Given the description of an element on the screen output the (x, y) to click on. 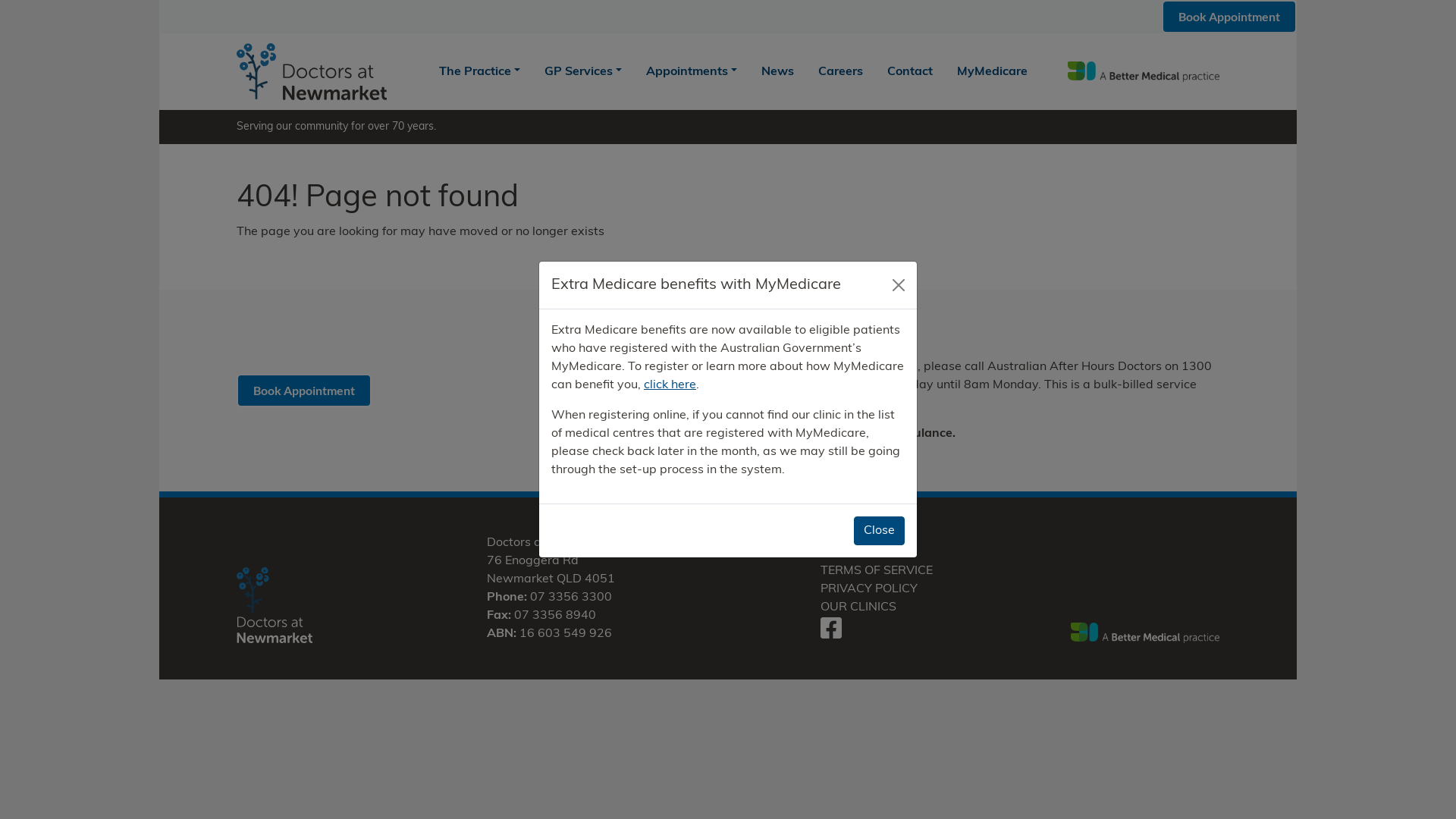
Contact Element type: text (909, 71)
TERMS OF SERVICE Element type: text (876, 570)
Careers Element type: text (840, 71)
Facebook Element type: text (830, 633)
Book Appointment Element type: text (303, 390)
OUR CLINICS Element type: text (858, 607)
CONTACT US Element type: text (859, 552)
Appointments Element type: text (691, 71)
click here Element type: text (870, 403)
News Element type: text (777, 71)
The Practice Element type: text (479, 71)
click here Element type: text (669, 385)
GP Services Element type: text (582, 71)
MyMedicare Element type: text (991, 71)
Book Appointment Element type: text (1228, 16)
PRIVACY POLICY Element type: text (868, 589)
Close Element type: text (878, 530)
